Given the description of an element on the screen output the (x, y) to click on. 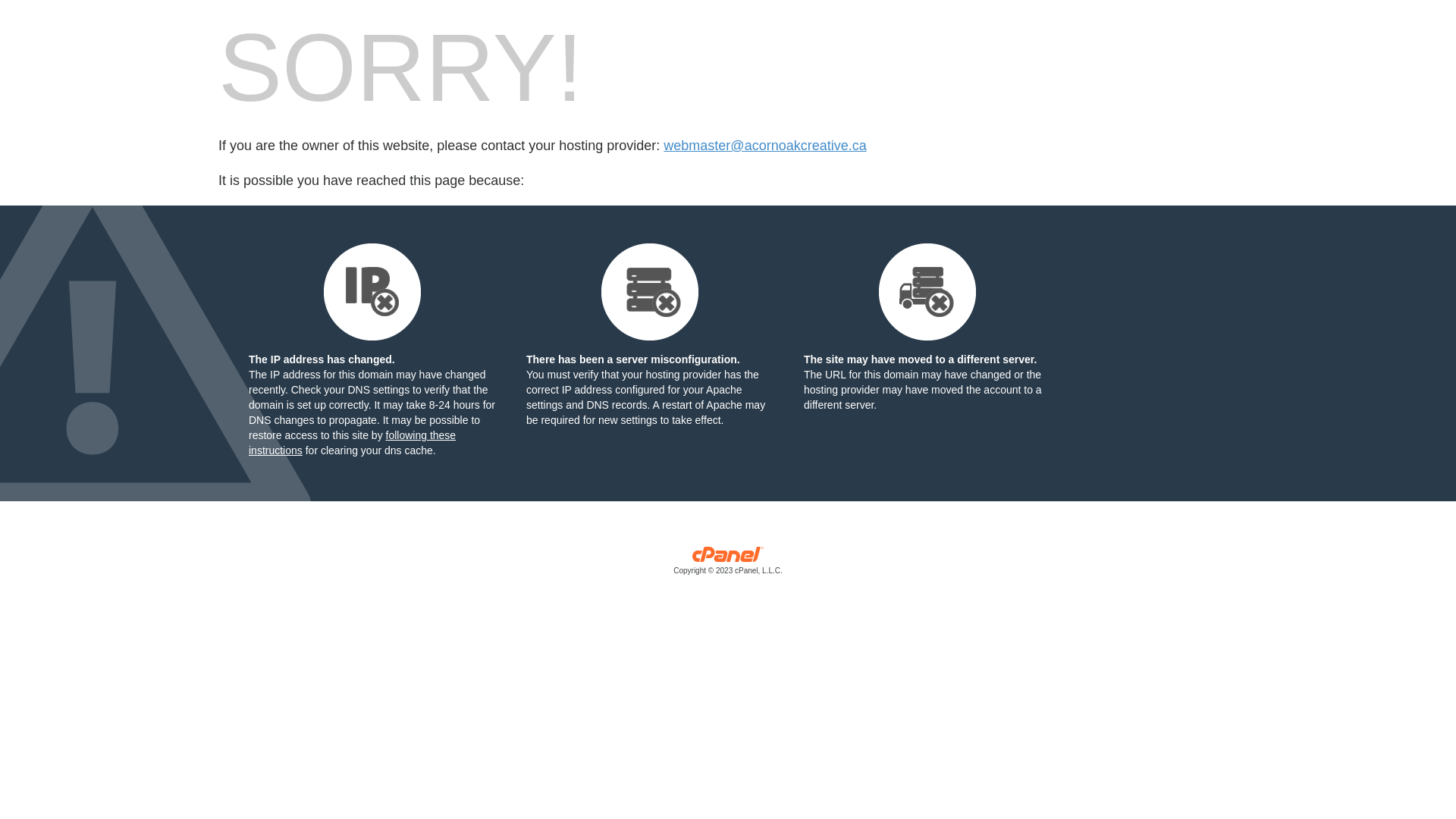
webmaster@acornoakcreative.ca Element type: text (764, 145)
following these instructions Element type: text (351, 442)
